Given the description of an element on the screen output the (x, y) to click on. 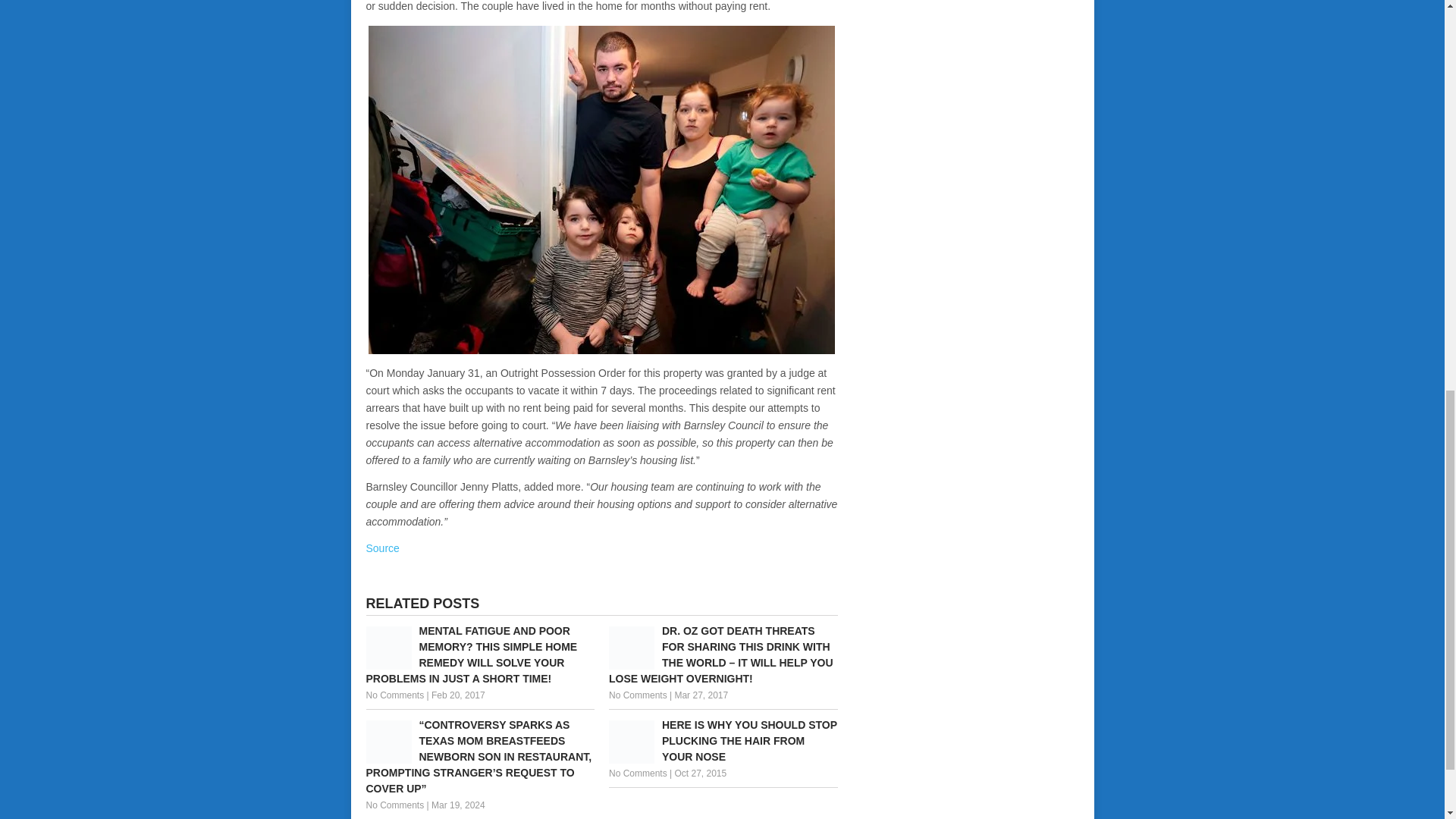
No Comments (394, 695)
HERE IS WHY YOU SHOULD STOP PLUCKING THE HAIR FROM YOUR NOSE (723, 740)
Source (381, 548)
Here Is Why You Should Stop Plucking The Hair From Your Nose (723, 740)
No Comments (637, 773)
No Comments (394, 805)
No Comments (637, 695)
